Given the description of an element on the screen output the (x, y) to click on. 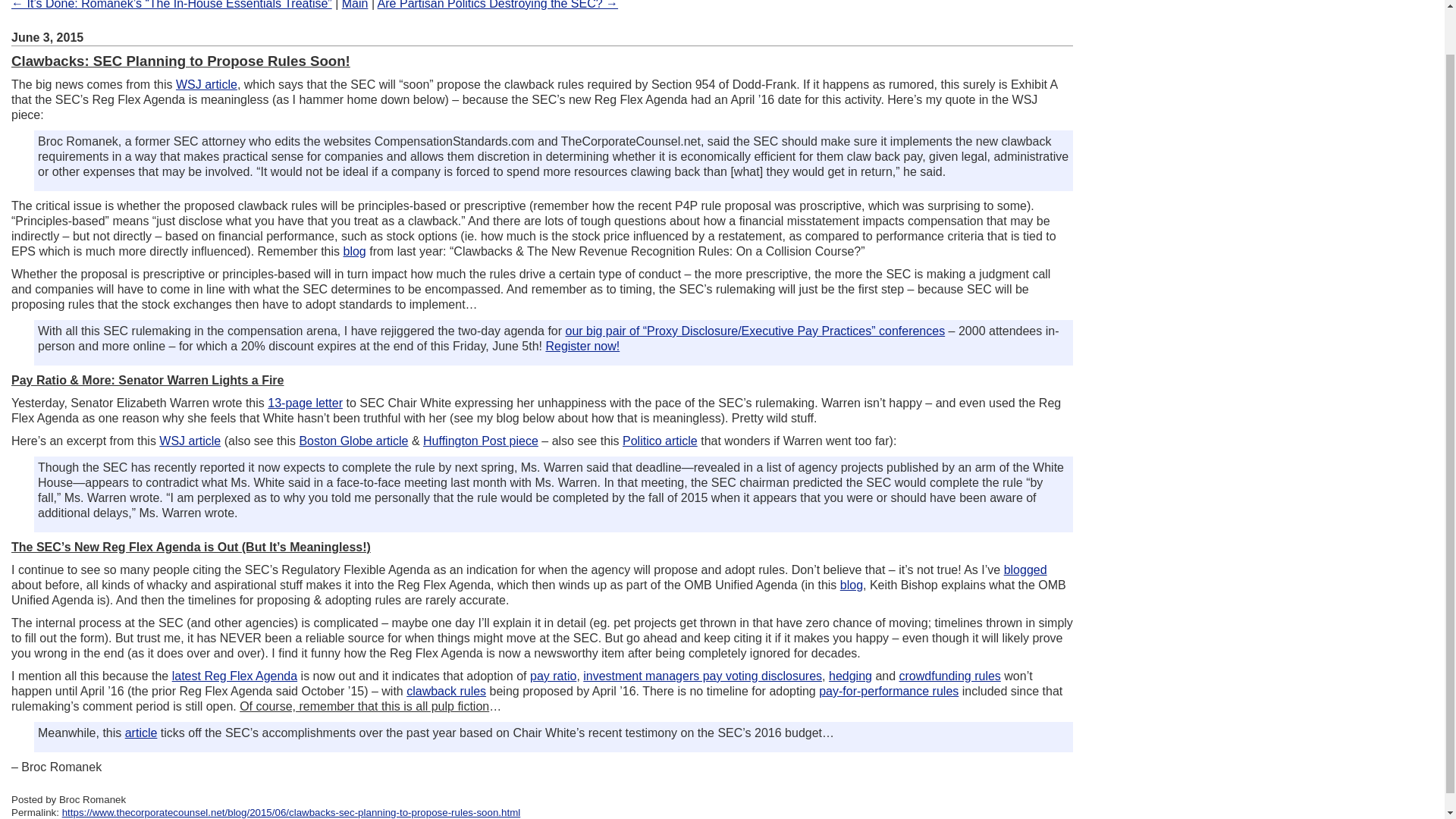
pay ratio (552, 675)
Permalink to Clawbacks: SEC Planning to Propose Rules Soon! (291, 812)
13-page letter (304, 402)
latest Reg Flex Agenda (234, 675)
WSJ article (189, 440)
clawback rules (446, 690)
Politico article (660, 440)
article (141, 732)
Main (355, 4)
hedging (850, 675)
pay-for-performance rules (888, 690)
Huffington Post piece (480, 440)
Boston Globe article (352, 440)
WSJ article (206, 83)
Register now! (582, 345)
